Given the description of an element on the screen output the (x, y) to click on. 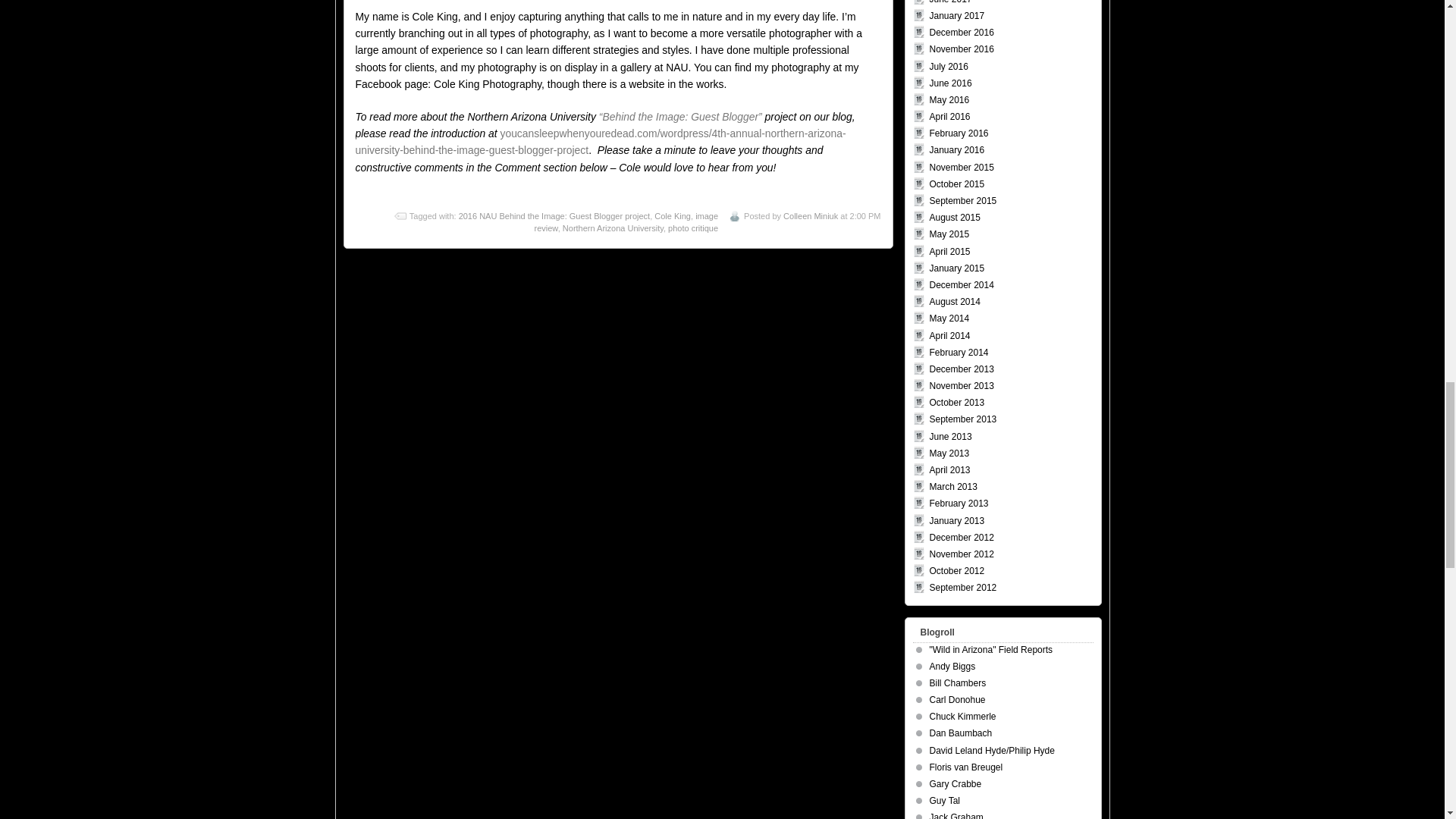
photo critique (692, 227)
Cole King (671, 215)
2016 NAU Behind the Image: Guest Blogger project (554, 215)
Northern Arizona University (612, 227)
Colleen Miniuk (810, 215)
image review (626, 222)
